Given the description of an element on the screen output the (x, y) to click on. 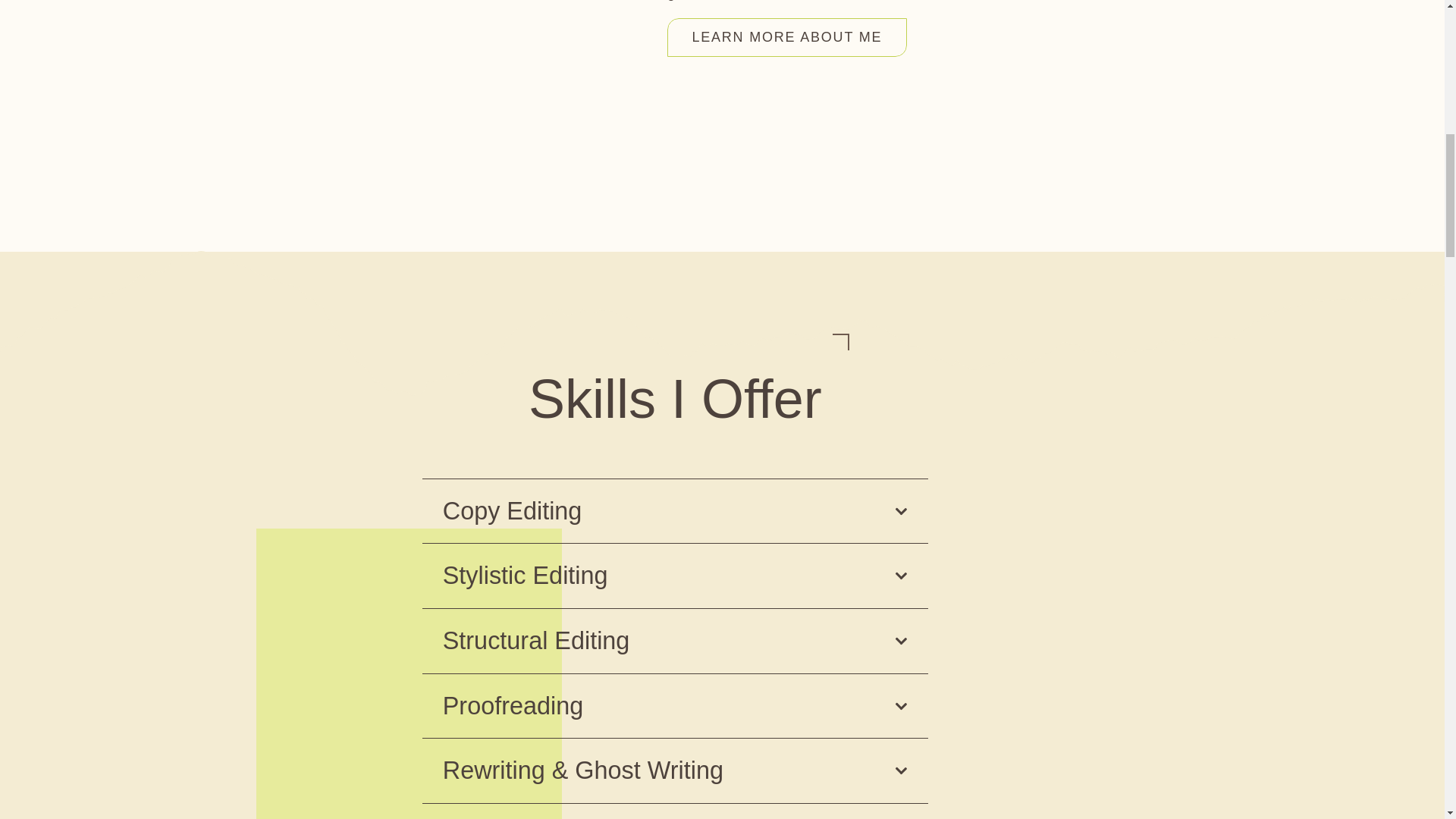
LEARN MORE ABOUT ME (786, 37)
About (786, 37)
Structural Editing (675, 641)
Manuscript Assessment (675, 811)
Stylistic Editing (675, 575)
Copy Editing (675, 511)
Proofreading (675, 706)
Back to top (1413, 37)
